Given the description of an element on the screen output the (x, y) to click on. 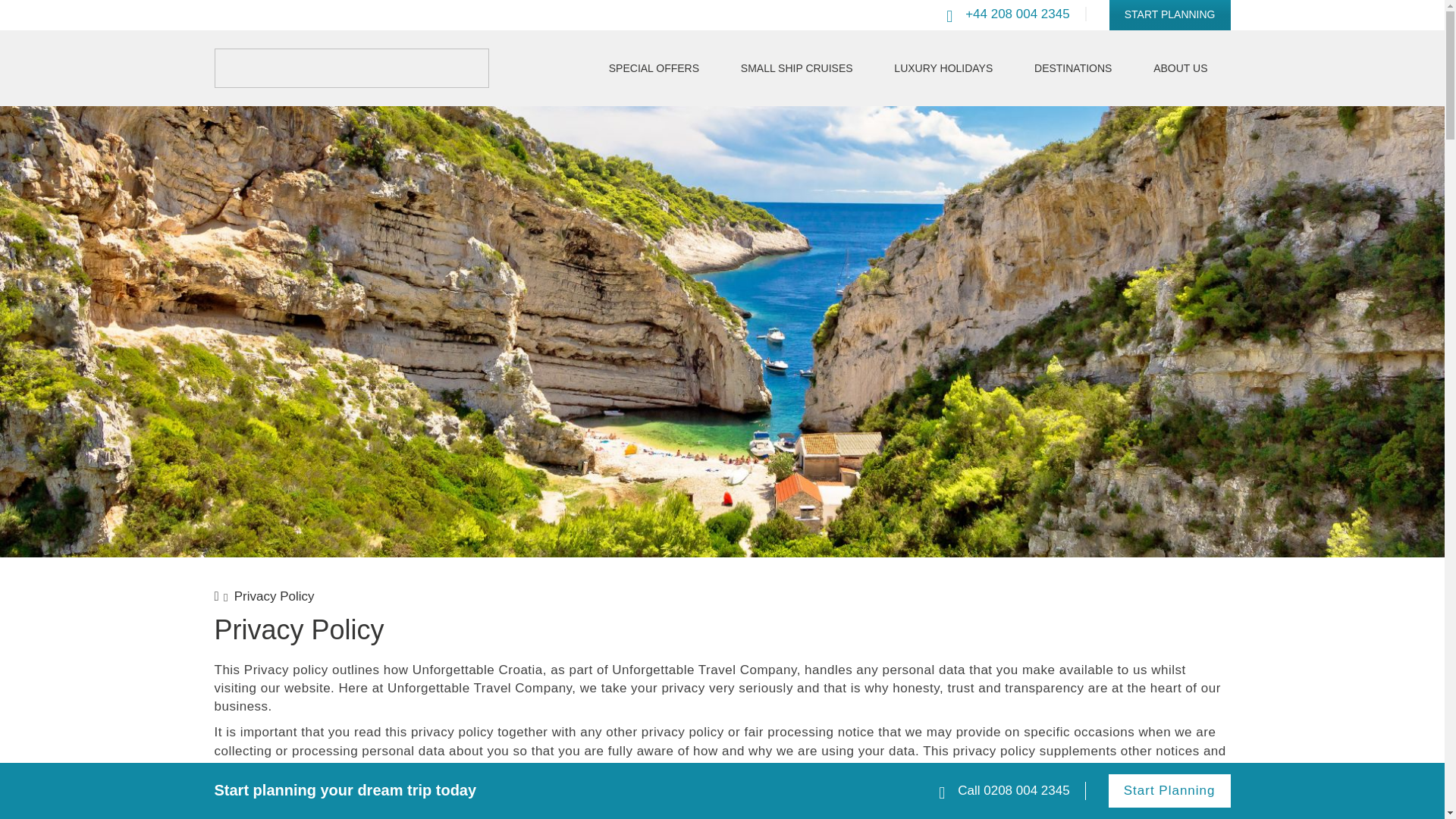
ABOUT US (1180, 68)
SMALL SHIP CRUISES (796, 68)
DESTINATIONS (1072, 68)
START PLANNING (1169, 15)
SPECIAL OFFERS (654, 68)
LUXURY HOLIDAYS (943, 68)
